Given the description of an element on the screen output the (x, y) to click on. 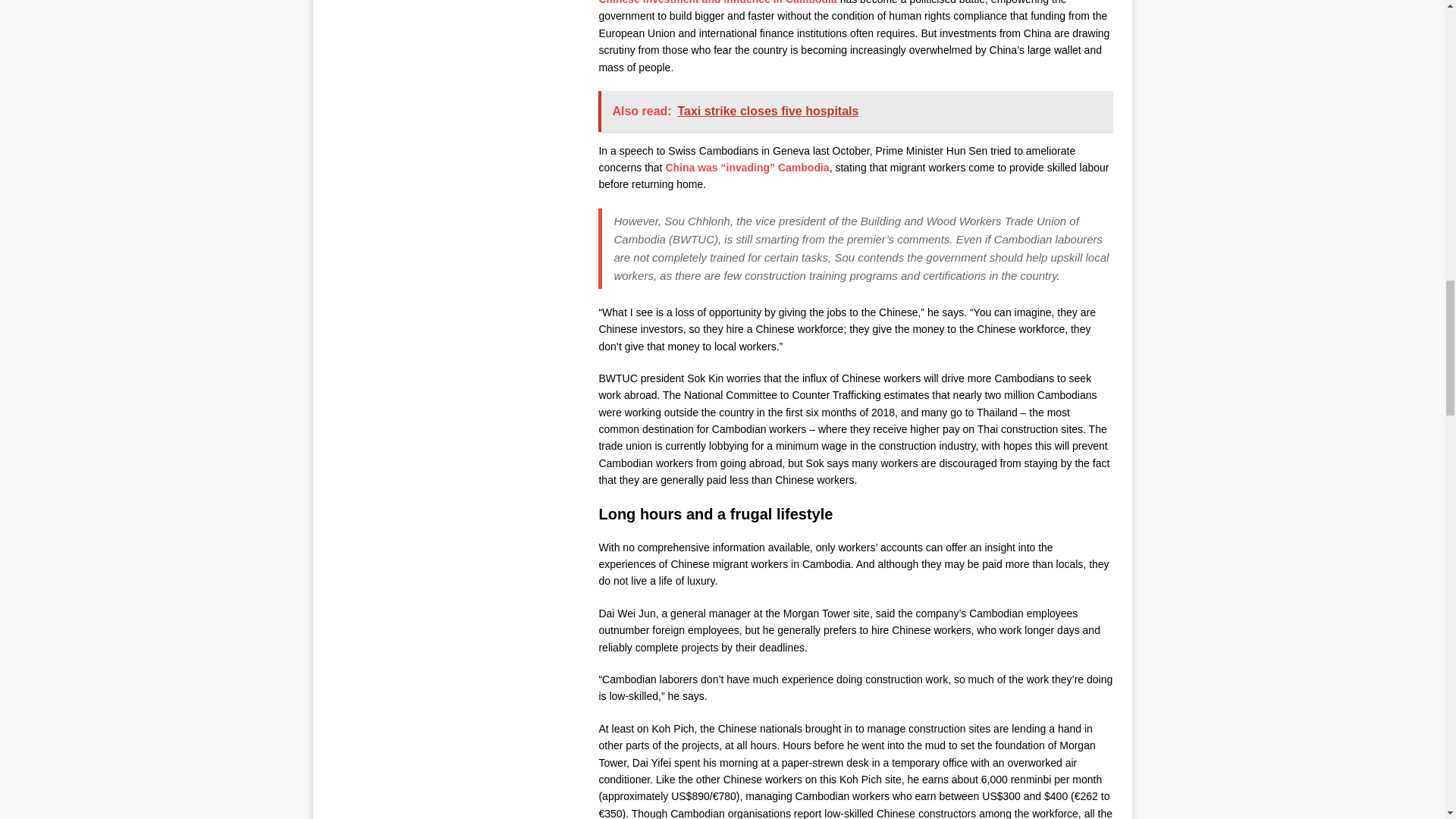
Chinese investment and influence in Cambodia (716, 2)
Also read:  Taxi strike closes five hospitals (856, 110)
